Given the description of an element on the screen output the (x, y) to click on. 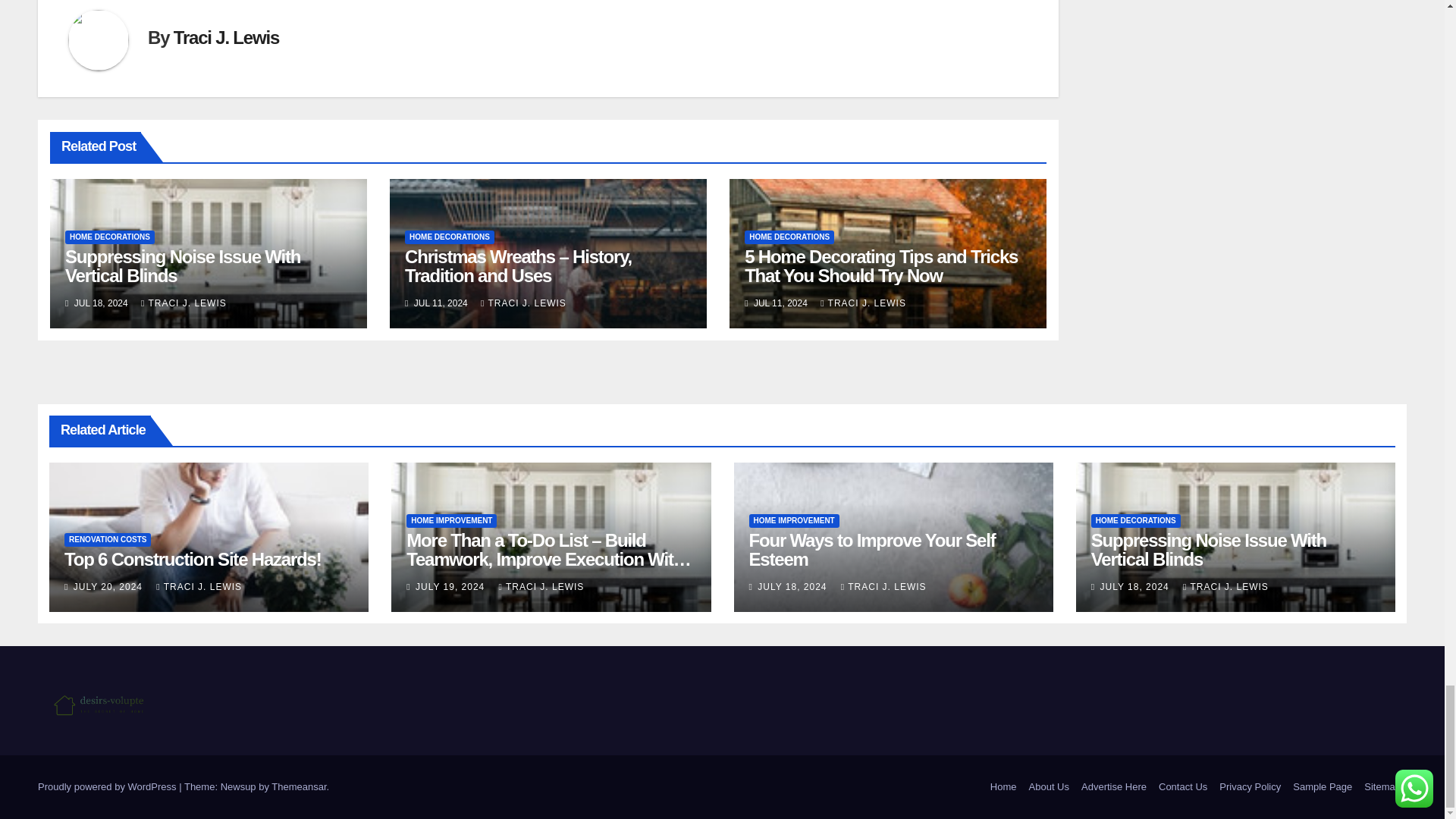
Permalink to: Suppressing Noise Issue With Vertical Blinds (182, 265)
